Given the description of an element on the screen output the (x, y) to click on. 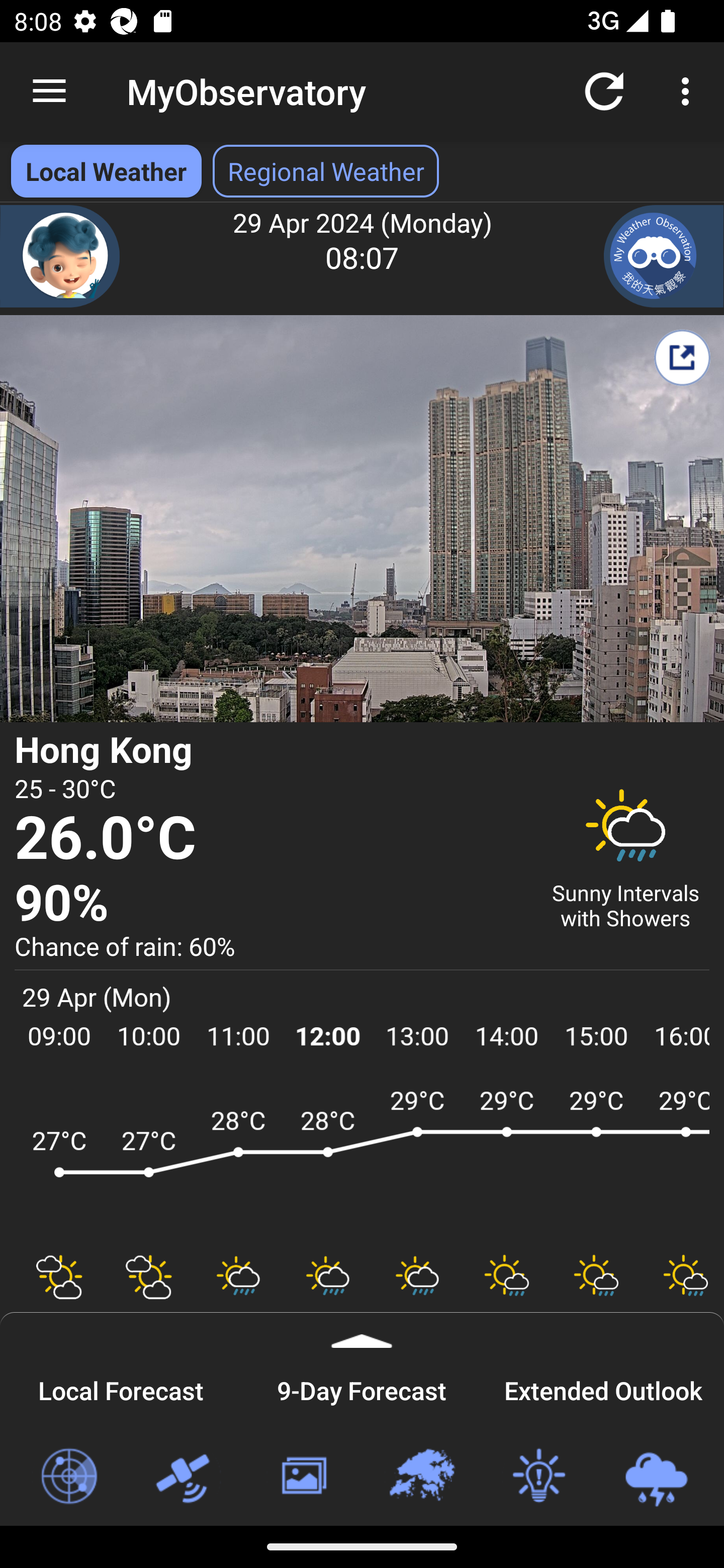
Navigate up (49, 91)
Refresh (604, 90)
More options (688, 90)
Local Weather Local Weather selected (105, 170)
Regional Weather Select Regional Weather (325, 170)
Chatbot (60, 256)
My Weather Observation (663, 256)
Share My Weather Report (681, 357)
26.0°C Temperature
26.0 degree Celsius (270, 839)
90% Relative Humidity
90 percent (270, 903)
ARWF (361, 1160)
Expand (362, 1330)
Local Forecast (120, 1387)
Extended Outlook (603, 1387)
Radar Images (68, 1476)
Satellite Images (185, 1476)
Weather Photos (302, 1476)
Regional Weather (420, 1476)
Weather Tips (537, 1476)
Loc-based Rain & Lightning Forecast (655, 1476)
